Given the description of an element on the screen output the (x, y) to click on. 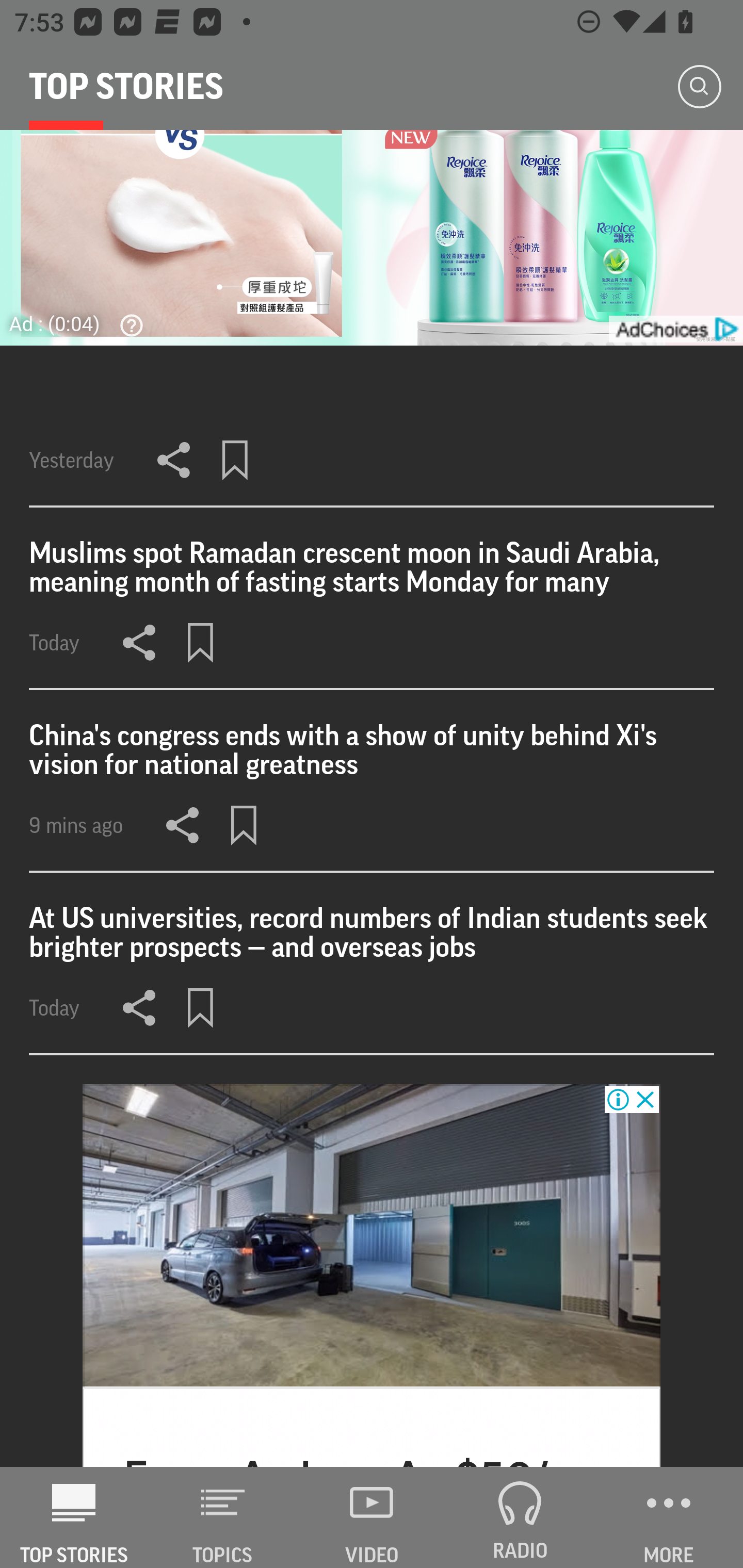
Ad : (0:04) Why This Ad? (82, 323)
Why This Ad? (126, 325)
get?name=admarker-full-tl (675, 329)
AP News TOP STORIES (74, 1517)
TOPICS (222, 1517)
VIDEO (371, 1517)
RADIO (519, 1517)
MORE (668, 1517)
